Given the description of an element on the screen output the (x, y) to click on. 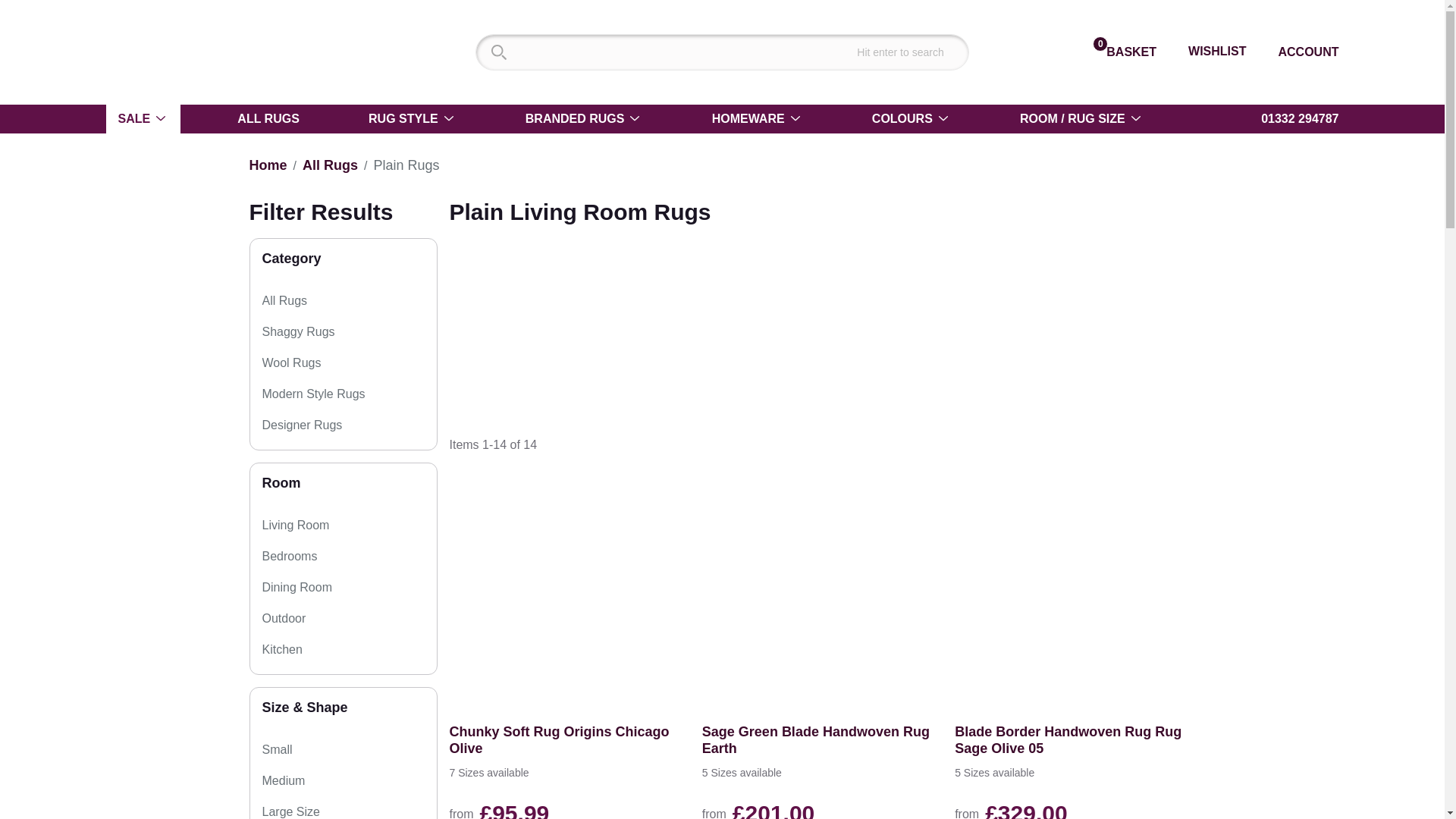
on (341, 362)
01332 294787 (1291, 118)
bedrooms (338, 556)
on (349, 456)
on (362, 425)
on (327, 300)
ALL RUGS (268, 118)
COLOURS (911, 118)
WISHLIST (1207, 51)
BRANDED RUGS (584, 118)
RUG STYLE (412, 118)
All Rugs (330, 165)
on (400, 555)
SALE (143, 118)
on (341, 487)
